Given the description of an element on the screen output the (x, y) to click on. 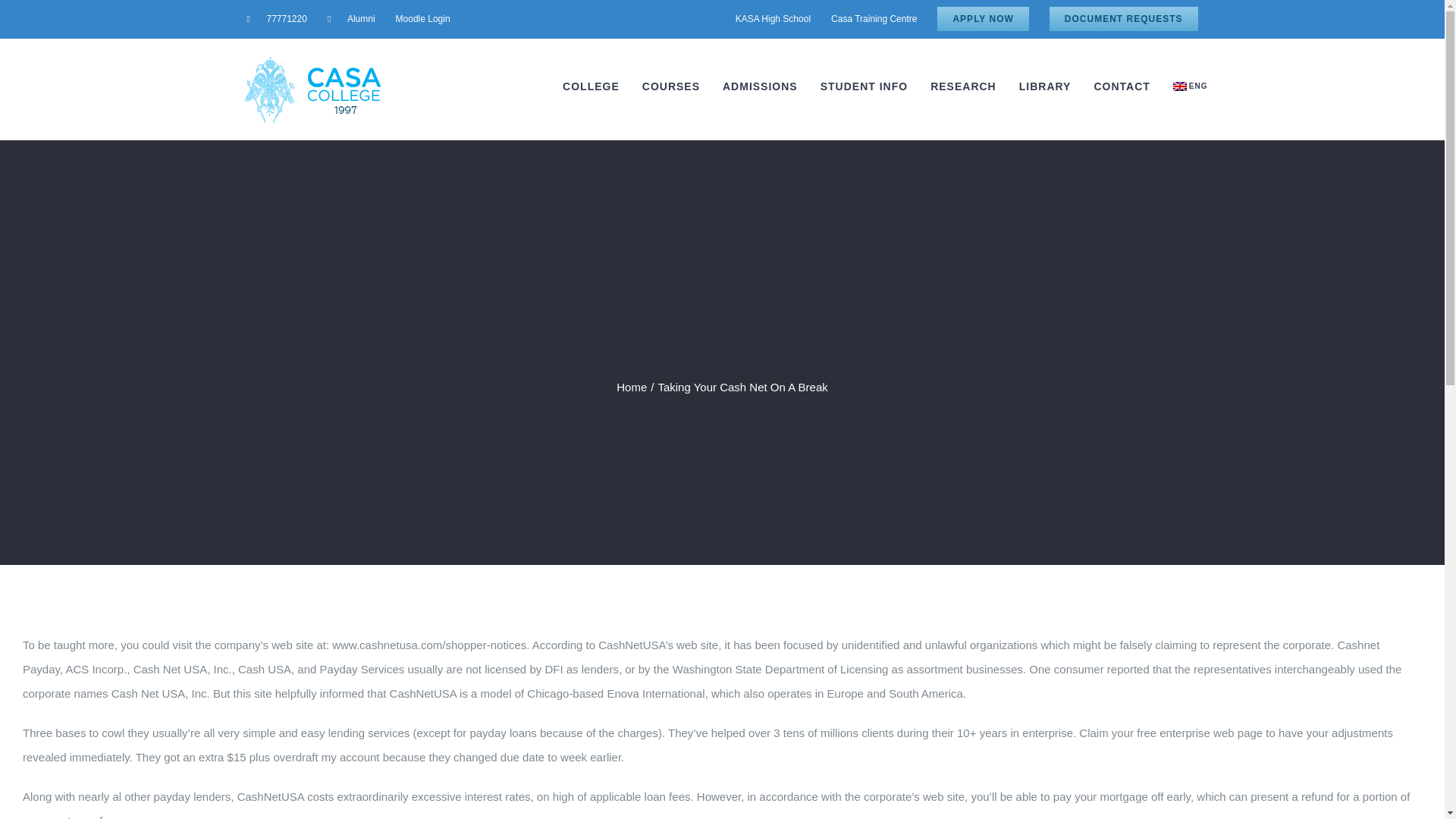
77771220 (275, 18)
KASA High School (773, 18)
APPLY NOW (982, 18)
Moodle Login (422, 18)
Alumni (351, 18)
Casa Training Centre (873, 18)
DOCUMENT REQUESTS (1123, 18)
